Given the description of an element on the screen output the (x, y) to click on. 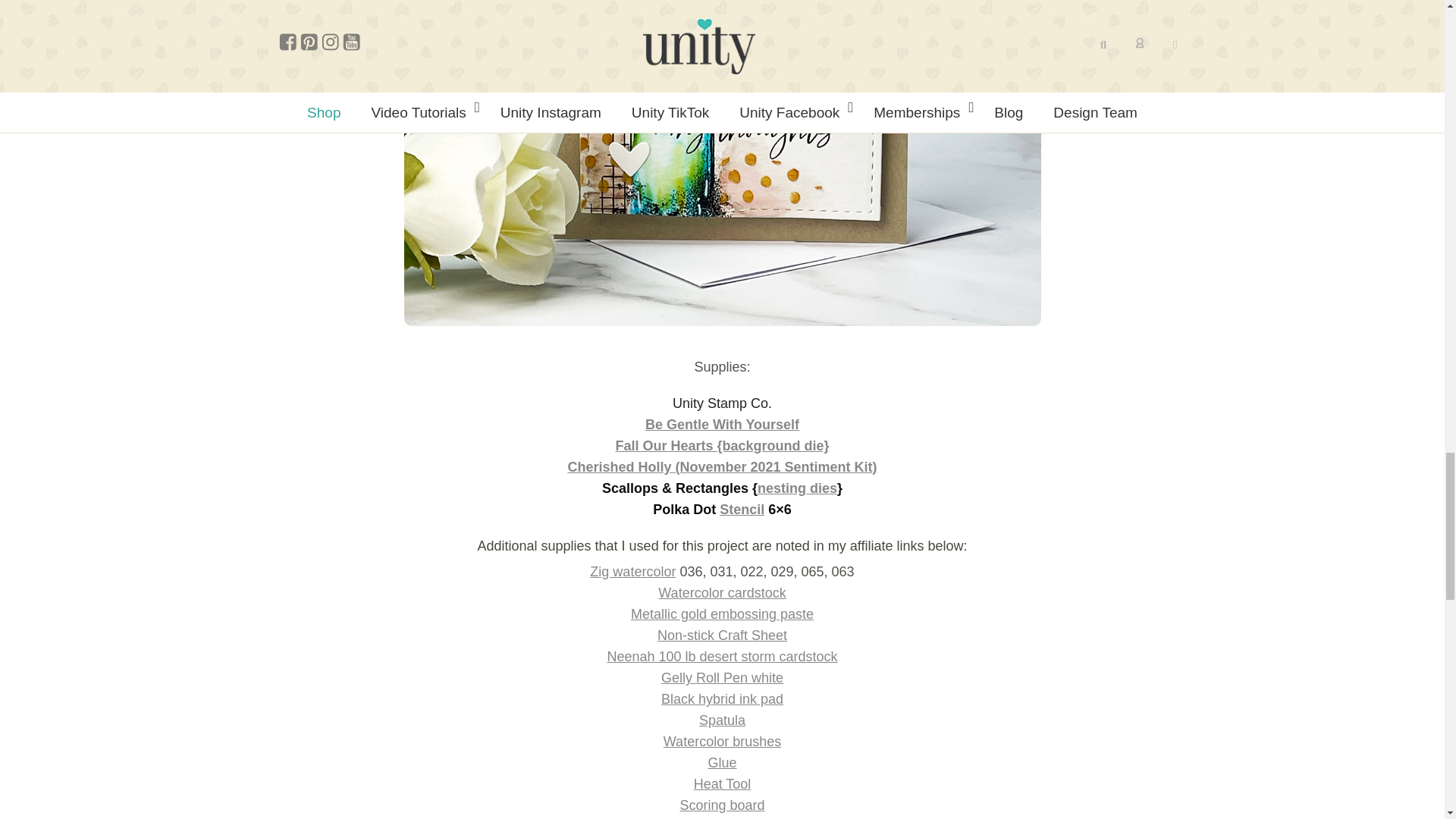
Watercolor cardstock (722, 592)
Be Gentle With Yourself (722, 424)
Stencil (741, 509)
Metallic gold embossing paste (721, 613)
Non-stick Craft Sheet (722, 635)
nesting dies (797, 488)
Zig watercolor (632, 571)
